Given the description of an element on the screen output the (x, y) to click on. 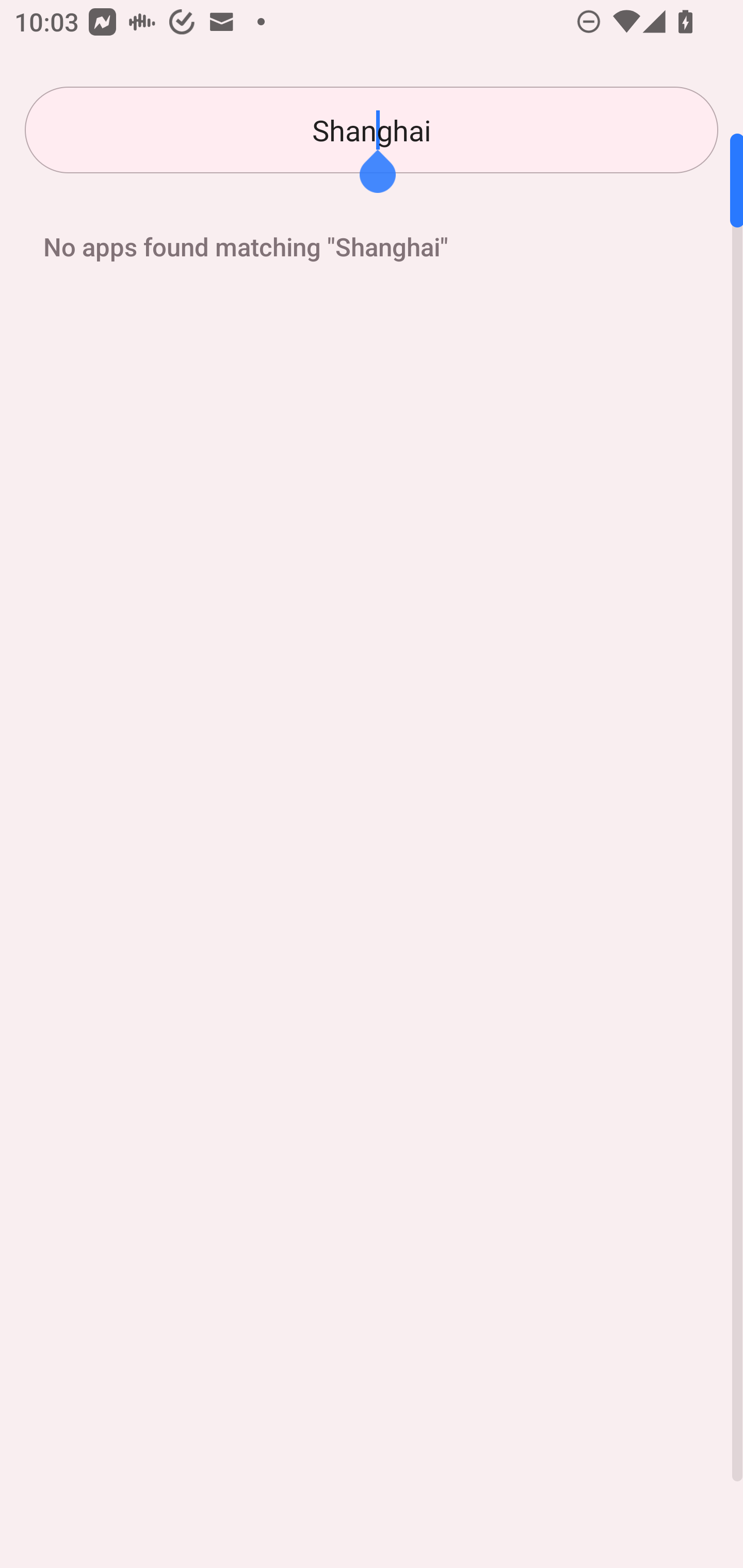
Shanghai (371, 130)
